Given the description of an element on the screen output the (x, y) to click on. 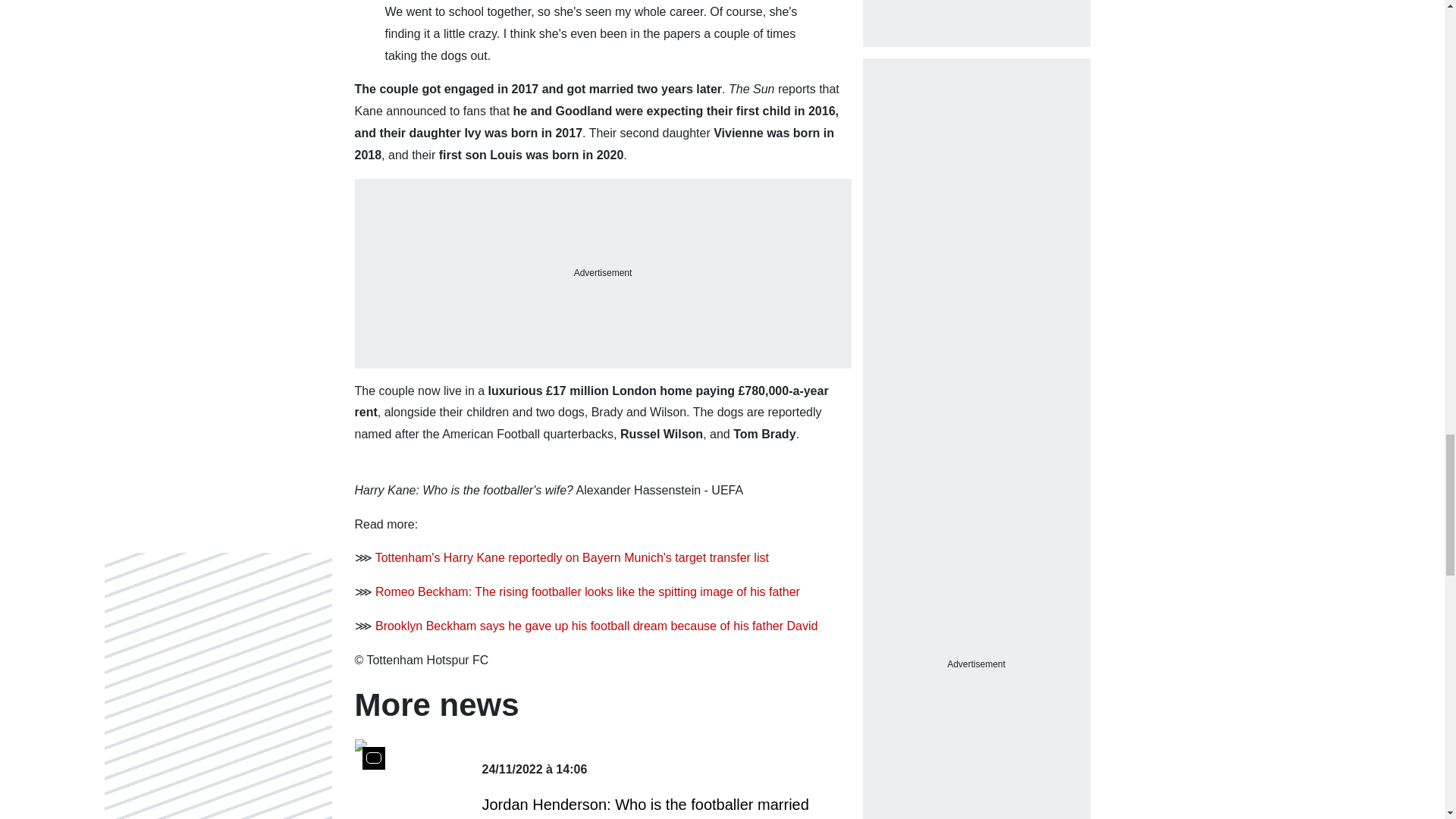
Jordan Henderson: Who is the footballer married to? (651, 806)
